Given the description of an element on the screen output the (x, y) to click on. 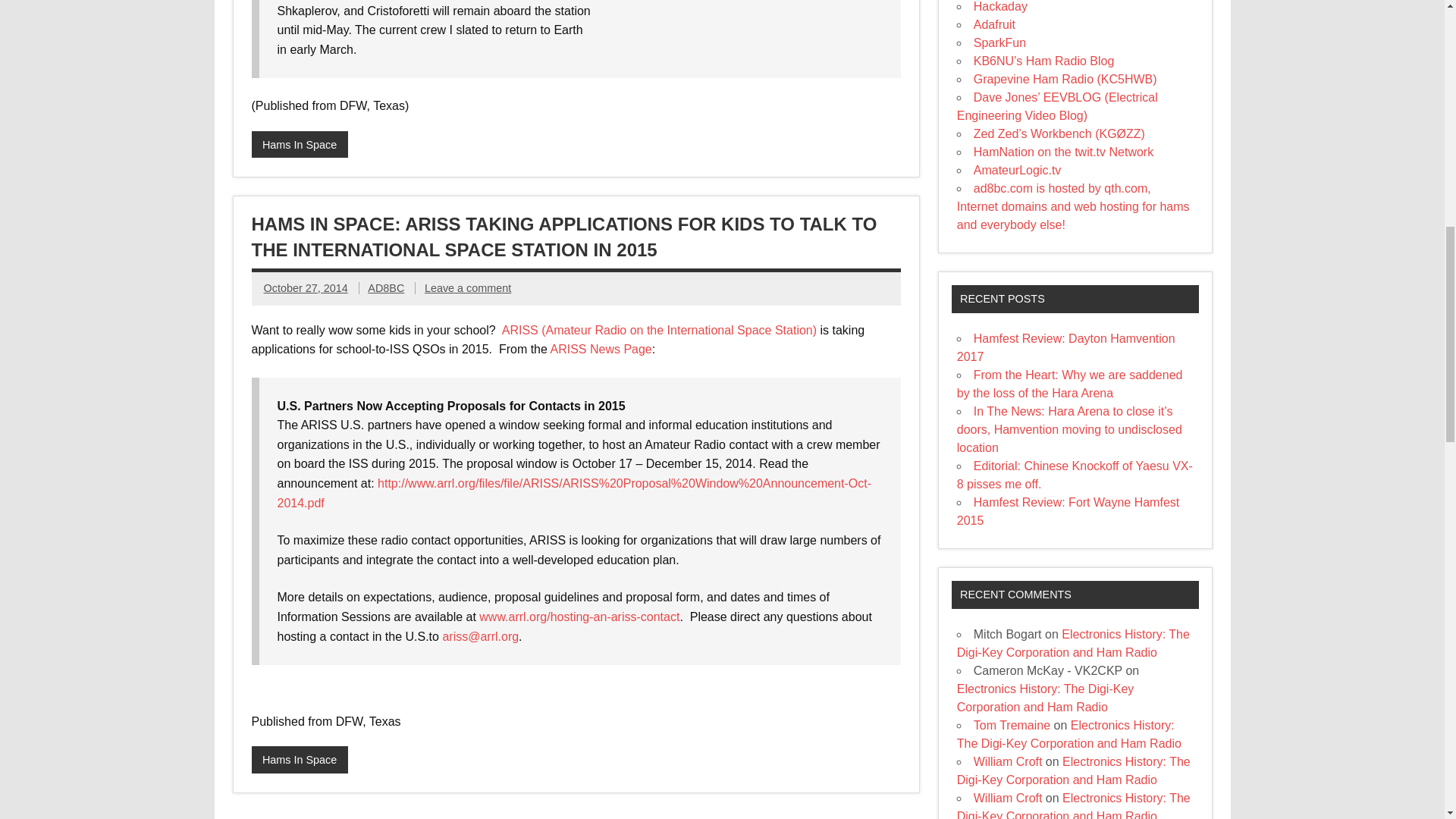
5:30 pm (305, 287)
AD8BC (386, 287)
View all posts by AD8BC (386, 287)
Hackaday (1000, 6)
Hams In Space (299, 144)
Adafruit (994, 24)
Hams In Space (299, 759)
HamNation on the twit.tv Network (1063, 151)
SparkFun (1000, 42)
October 27, 2014 (305, 287)
ARISS News Page (600, 349)
Leave a comment (468, 287)
